Given the description of an element on the screen output the (x, y) to click on. 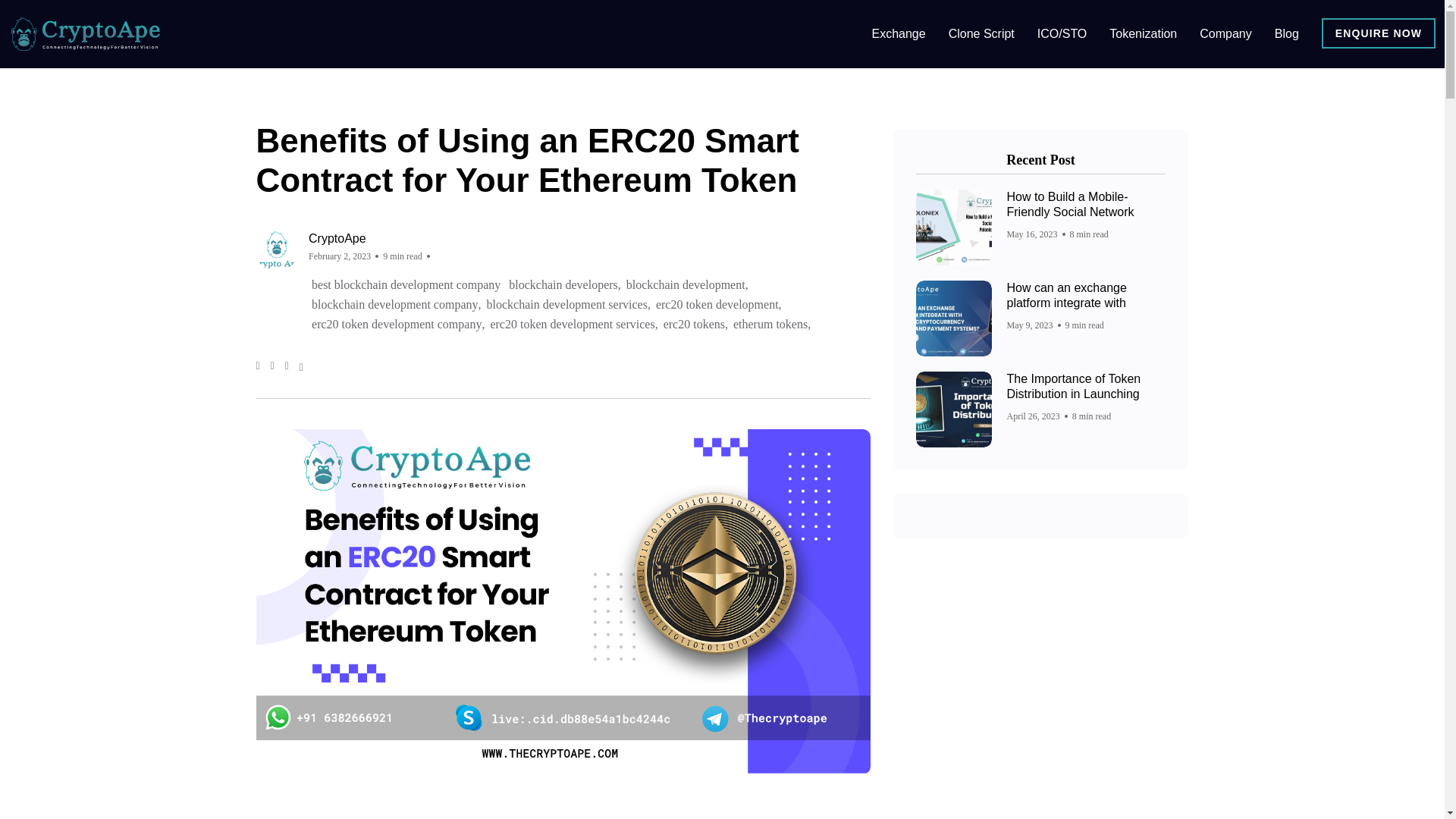
Clone Script (981, 34)
Exchange (897, 34)
ENQUIRE NOW (1378, 33)
Copy Link (300, 367)
Tokenization (1142, 34)
Company (1224, 34)
Blog (1286, 34)
Thecryptope (89, 34)
